Given the description of an element on the screen output the (x, y) to click on. 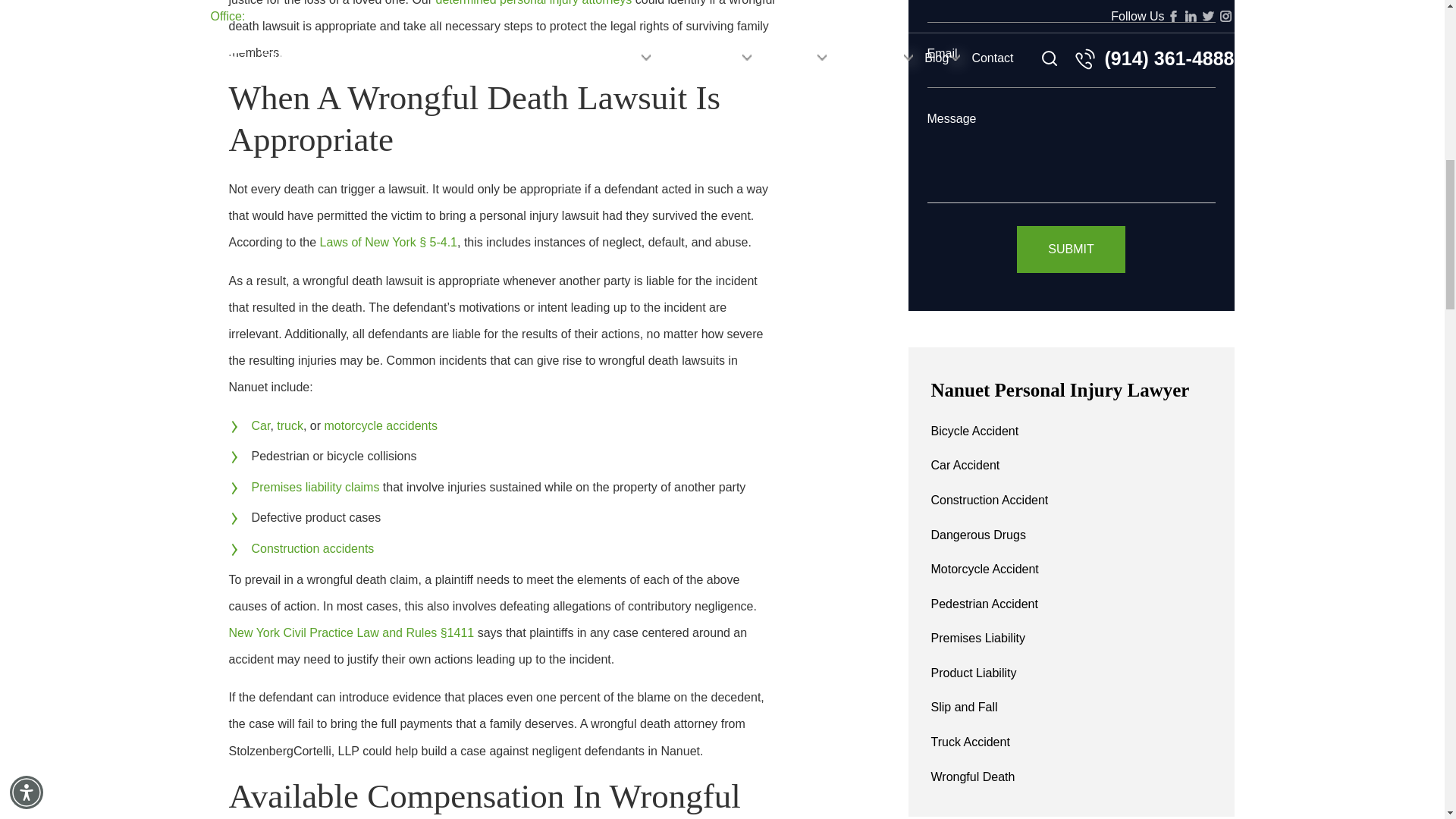
Submit (1070, 249)
